Given the description of an element on the screen output the (x, y) to click on. 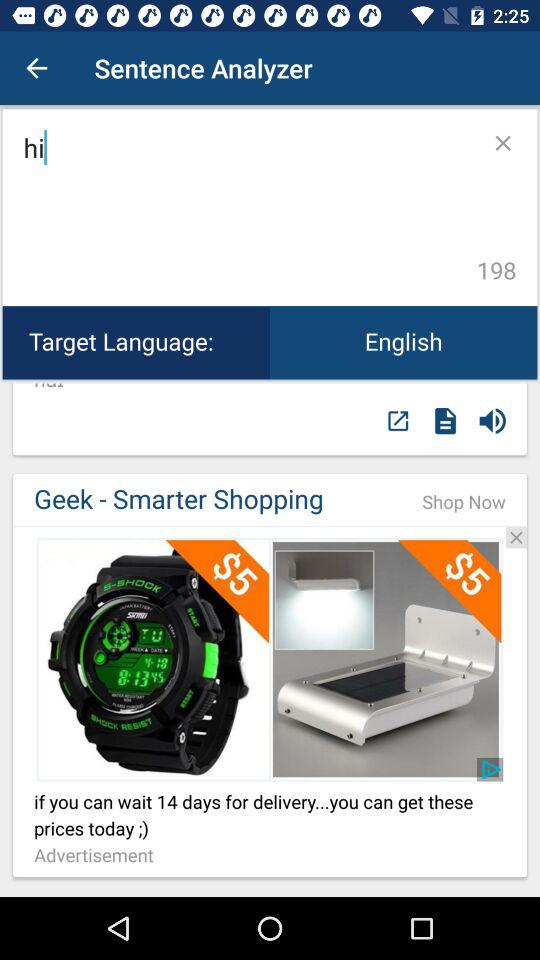
open link (269, 659)
